Given the description of an element on the screen output the (x, y) to click on. 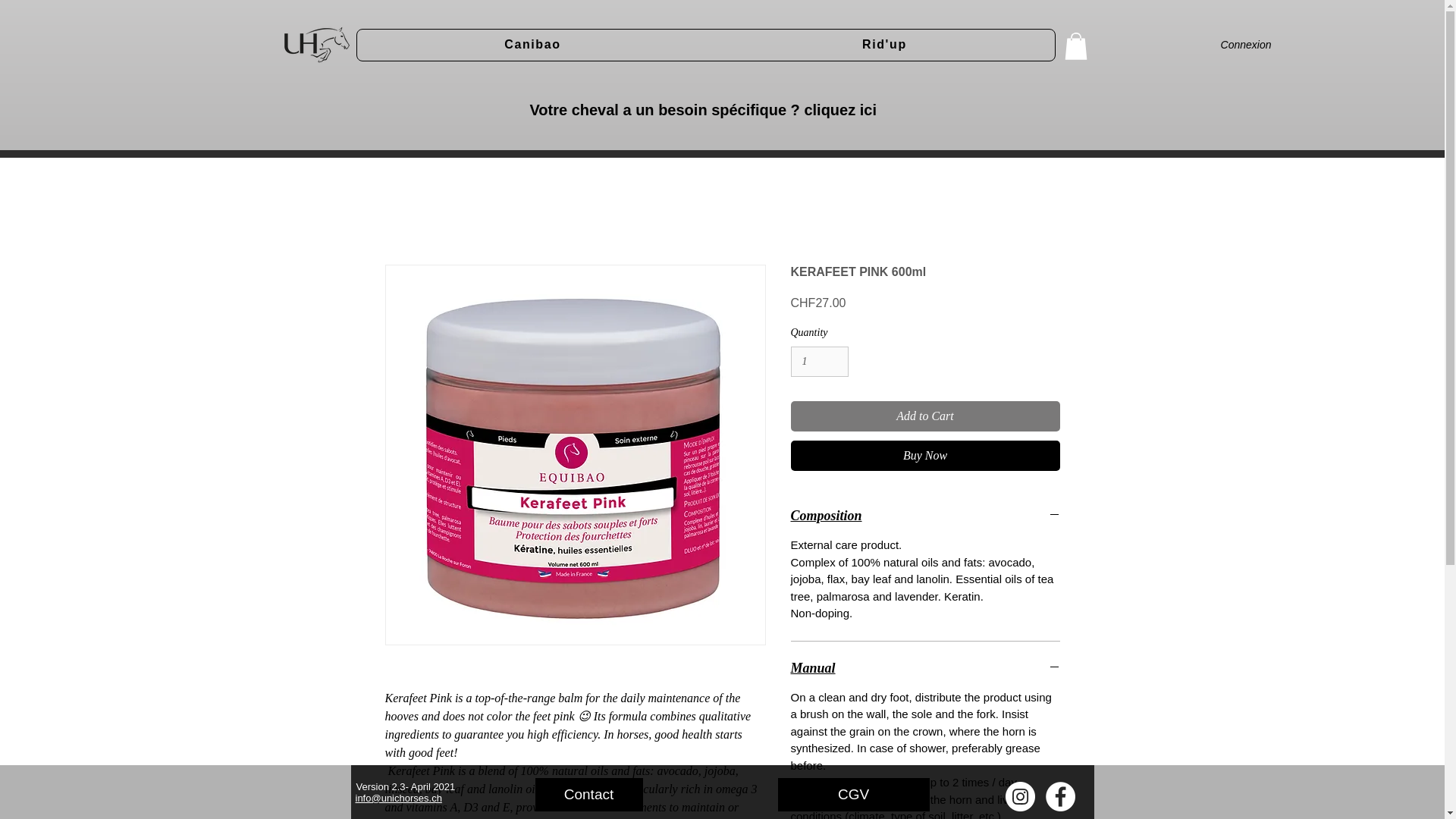
Connexion (1245, 45)
Contact (589, 794)
Buy Now (924, 455)
Composition (924, 515)
CGV (853, 794)
1 (818, 361)
Add to Cart (924, 416)
Rid'up (884, 44)
Manual (705, 44)
Canibao (924, 668)
